Given the description of an element on the screen output the (x, y) to click on. 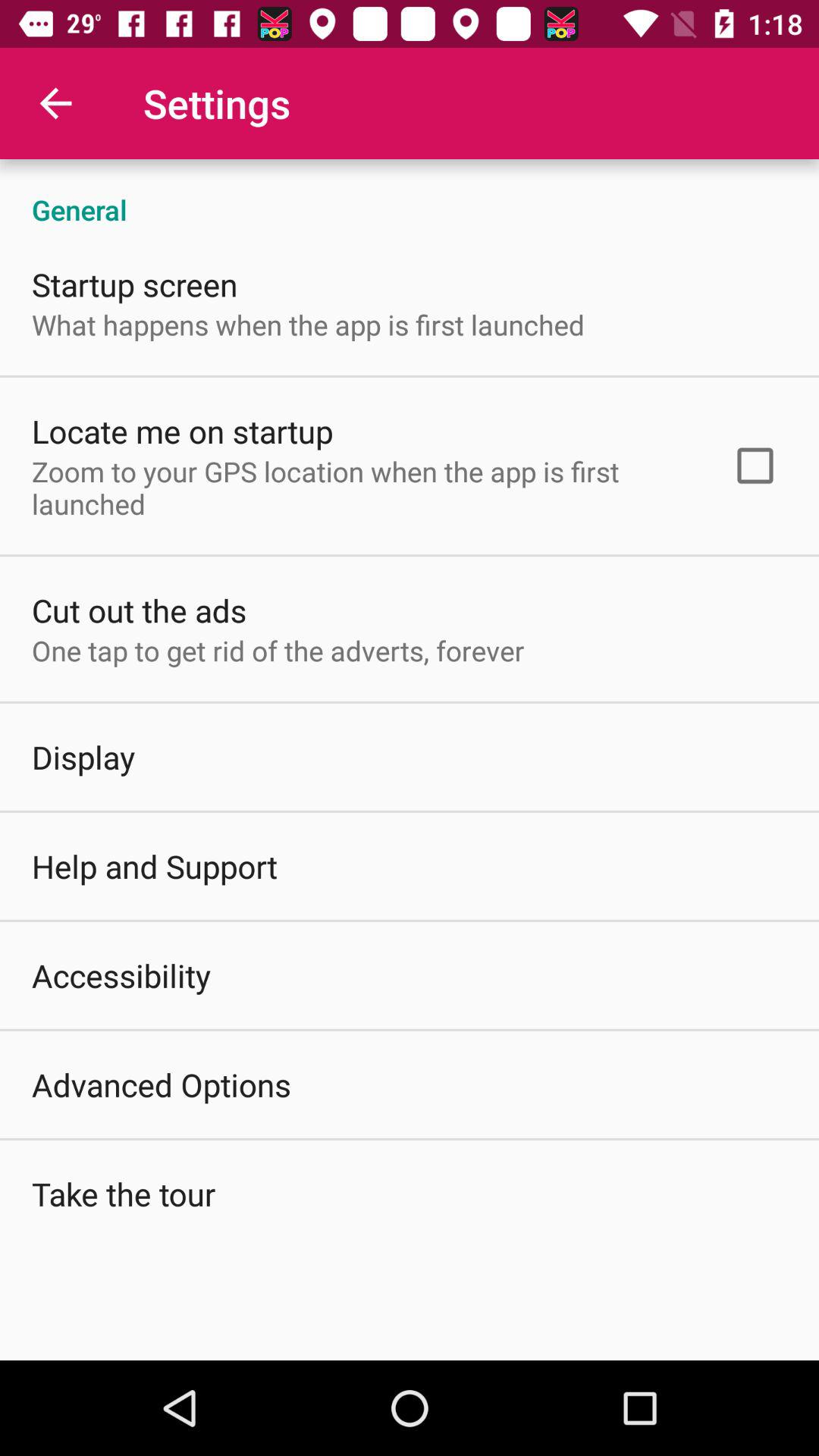
launch icon below zoom to your icon (138, 609)
